Given the description of an element on the screen output the (x, y) to click on. 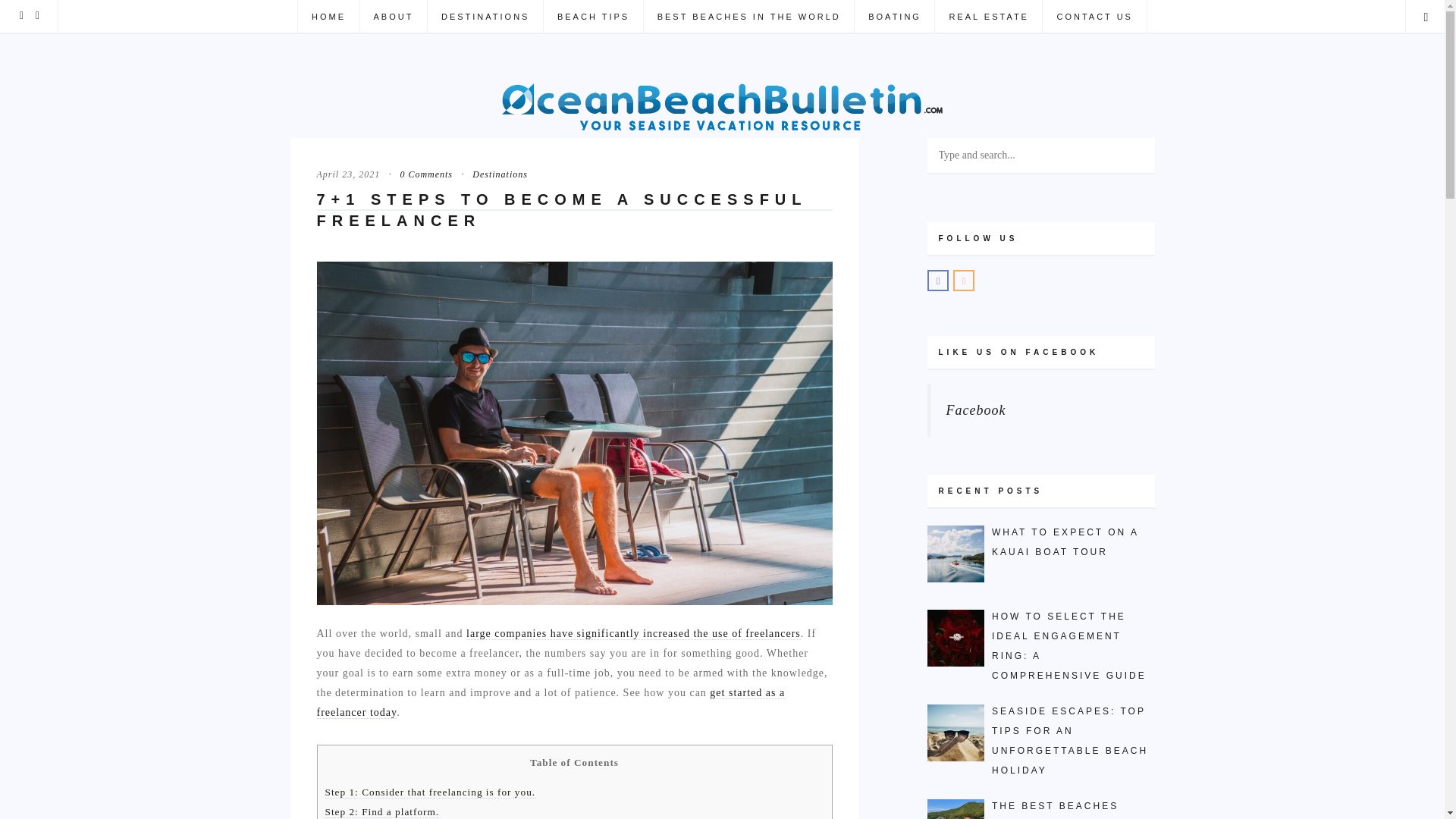
HOME (328, 16)
BEST BEACHES IN THE WORLD (748, 16)
BOATING (893, 16)
ABOUT (393, 16)
get started as a freelancer today (551, 703)
REAL ESTATE (988, 16)
Step 1: Consider that freelancing is for you. (429, 792)
Destinations (491, 173)
DESTINATIONS (484, 16)
BEACH TIPS (593, 16)
0 Comments (417, 173)
CONTACT US (1094, 16)
Step 2: Find a platform. (381, 811)
